Given the description of an element on the screen output the (x, y) to click on. 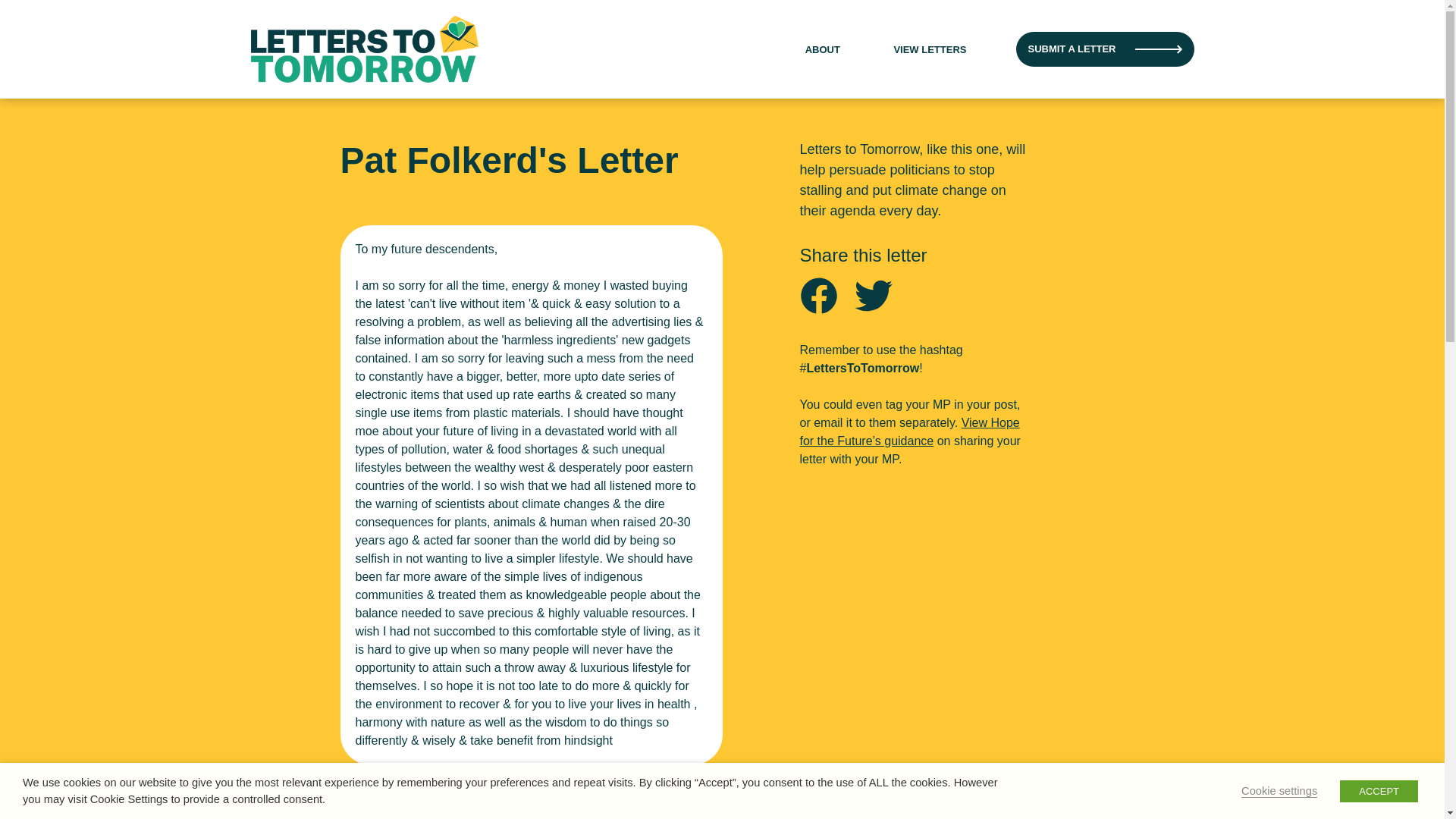
Cookie settings (1279, 790)
ACCEPT (1378, 790)
VIEW LETTERS (929, 49)
SUBMIT A LETTER (1104, 48)
ABOUT (822, 49)
